Given the description of an element on the screen output the (x, y) to click on. 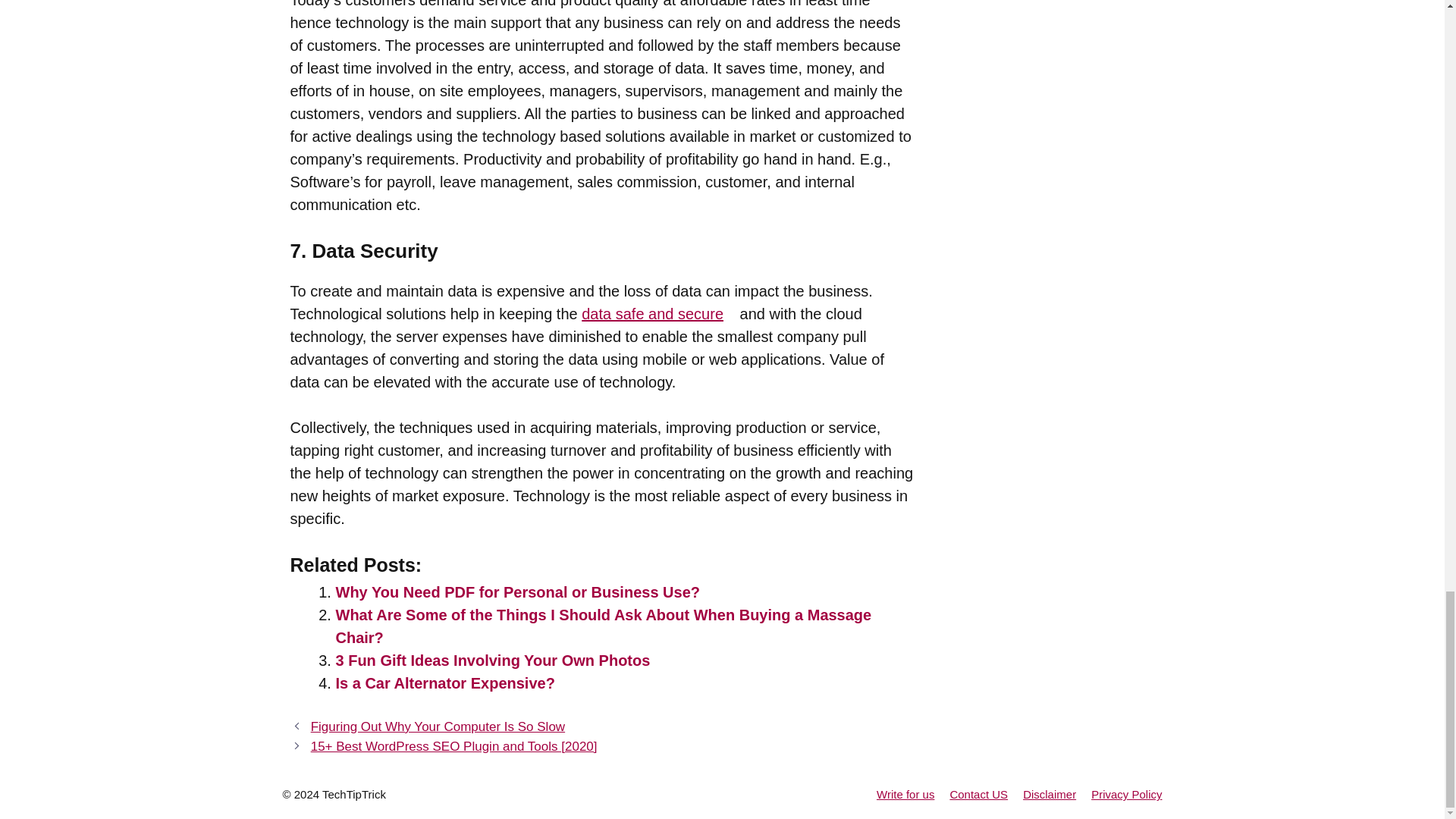
3 Fun Gift Ideas Involving Your Own Photos (491, 660)
Contact US (978, 793)
3 Fun Gift Ideas Involving Your Own Photos (491, 660)
Why You Need PDF for Personal or Business Use? (516, 591)
Why You Need PDF for Personal or Business Use? (516, 591)
Is a Car Alternator Expensive? (444, 682)
Write for us (905, 793)
data safe and secure (657, 313)
